Given the description of an element on the screen output the (x, y) to click on. 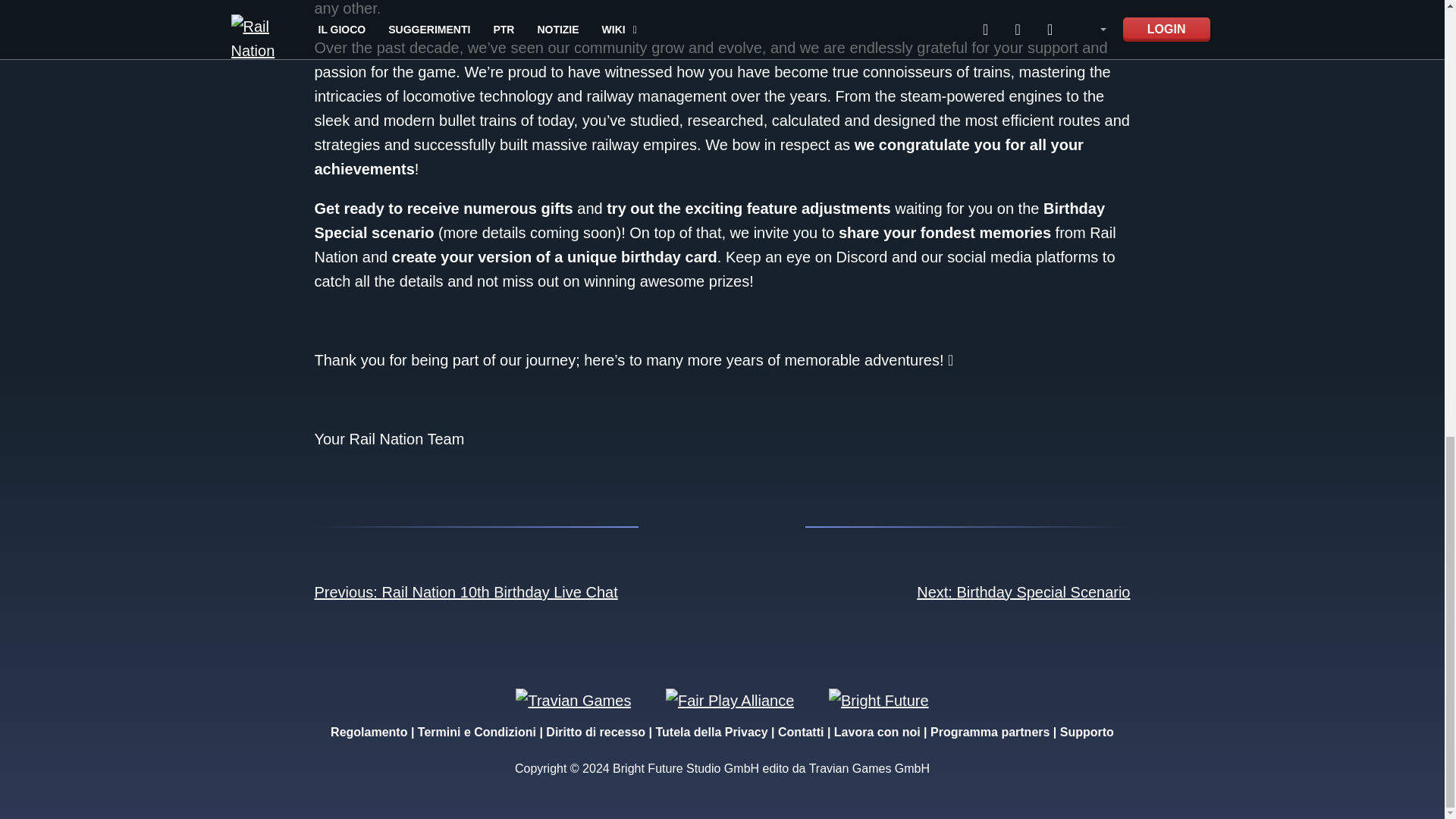
Supporto (1086, 731)
Qui trovi il regolamento del gioco. (368, 731)
Fair Play Alliance (729, 699)
Qui trovi i contatti per Rail Nation (800, 731)
Clicca qui per visitare il sito web di Travian Games GmbH (572, 699)
Clicca qui per visitare il sito web di Bright Future GmbH (878, 699)
Diritto di recesso (595, 731)
Lavora con noi (877, 731)
